Given the description of an element on the screen output the (x, y) to click on. 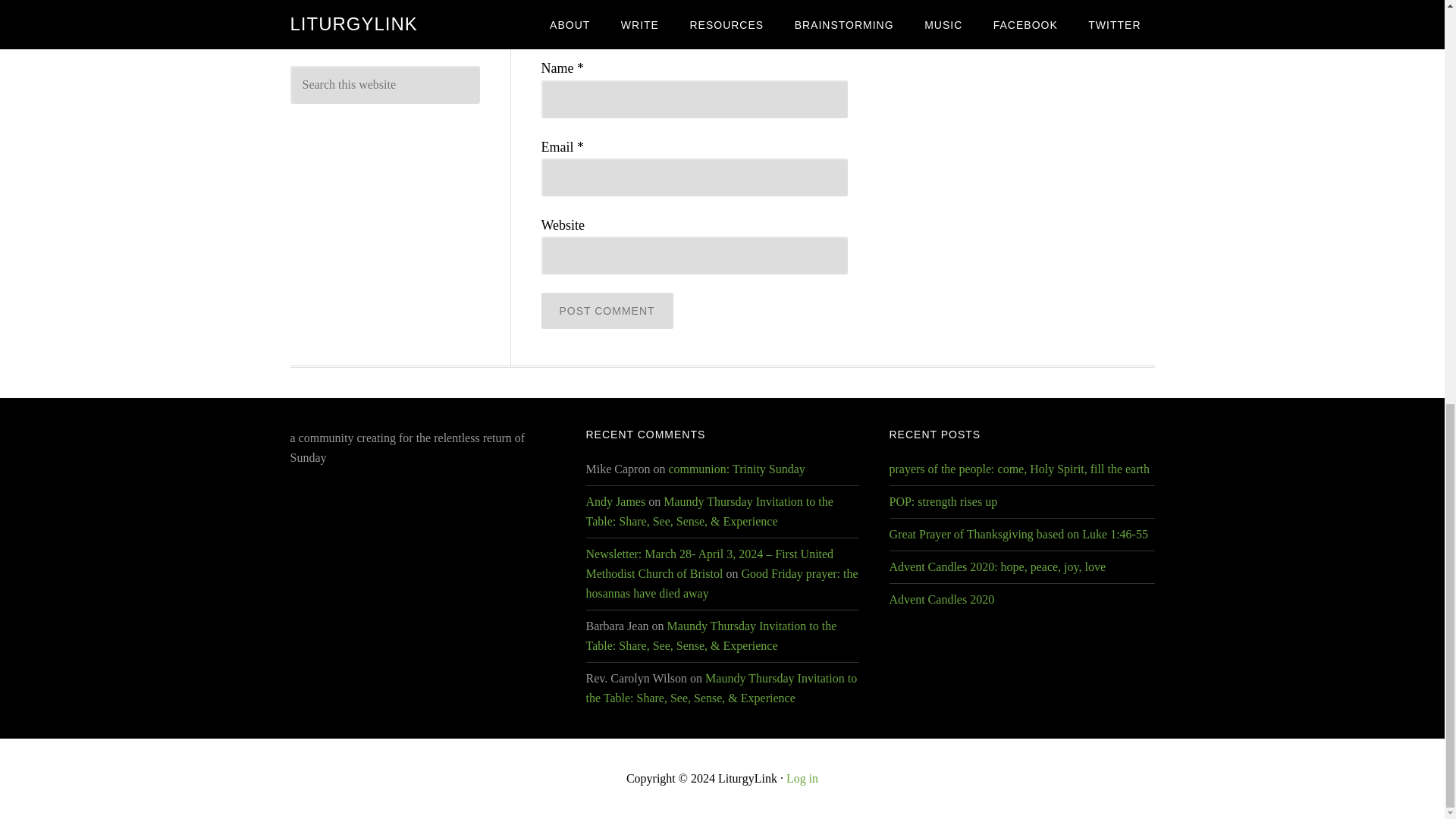
Post Comment (606, 310)
Post Comment (606, 310)
